Given the description of an element on the screen output the (x, y) to click on. 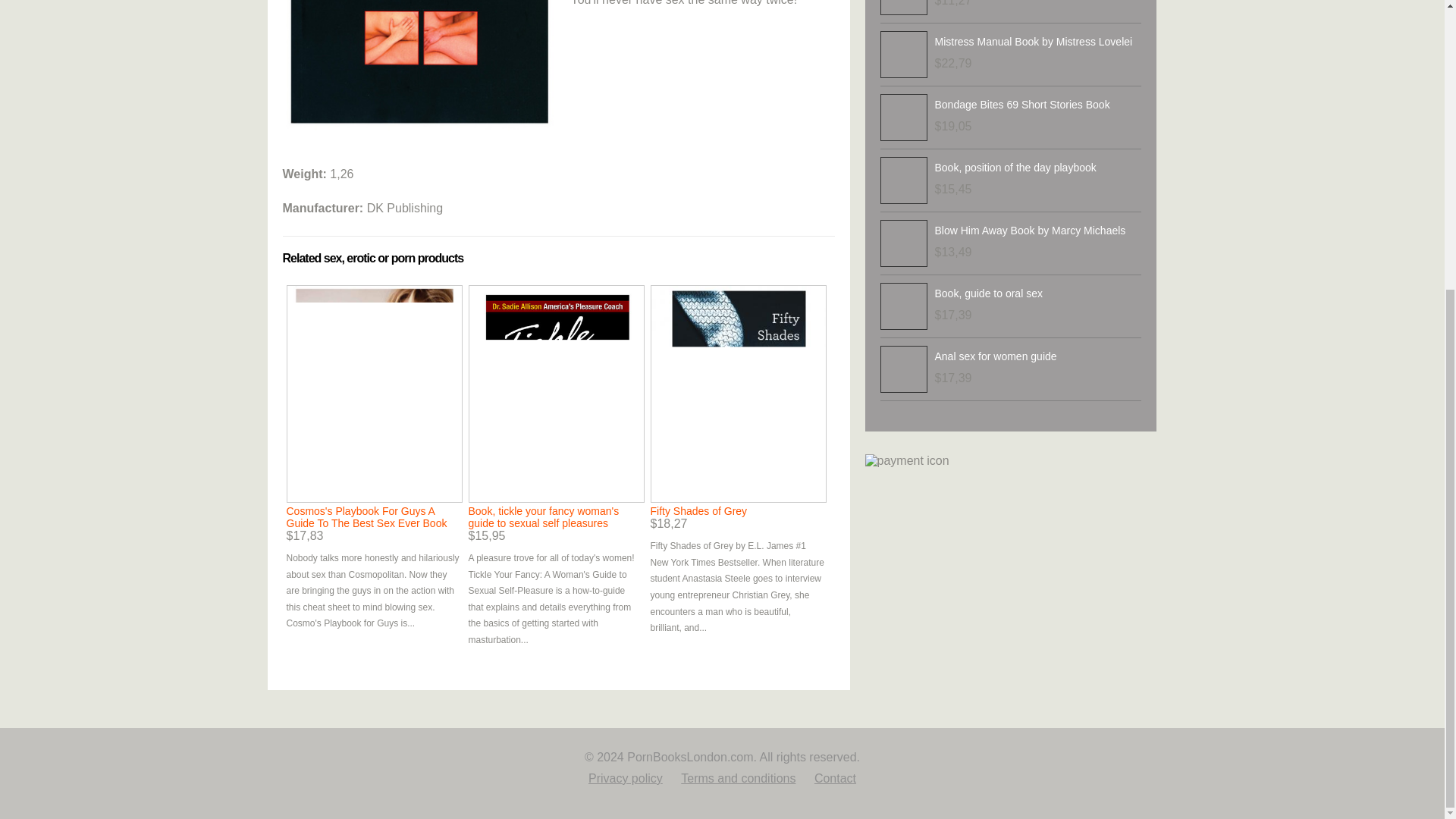
Blow Him Away Book by Marcy Michaels (1029, 230)
Book, position of the day playbook (1015, 167)
Privacy policy (624, 778)
Contact (834, 778)
Anal sex for women guide (995, 356)
Book, guide to oral sex (988, 293)
Bondage Bites 69 Short Stories Book (1021, 104)
Mistress Manual Book by Mistress Lovelei (1033, 41)
Terms and conditions (737, 778)
